Given the description of an element on the screen output the (x, y) to click on. 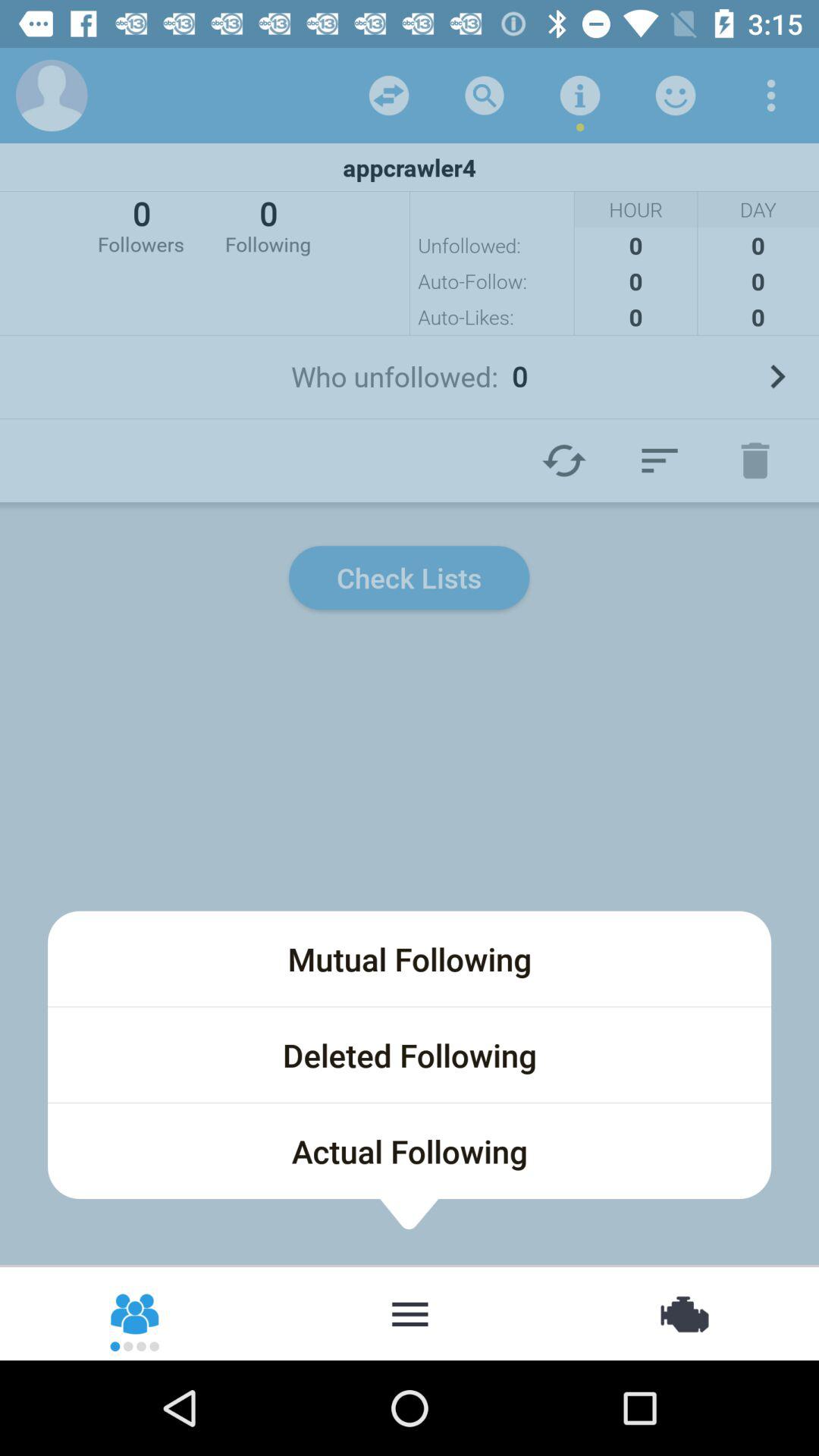
open the who unfollowed list (777, 376)
